Given the description of an element on the screen output the (x, y) to click on. 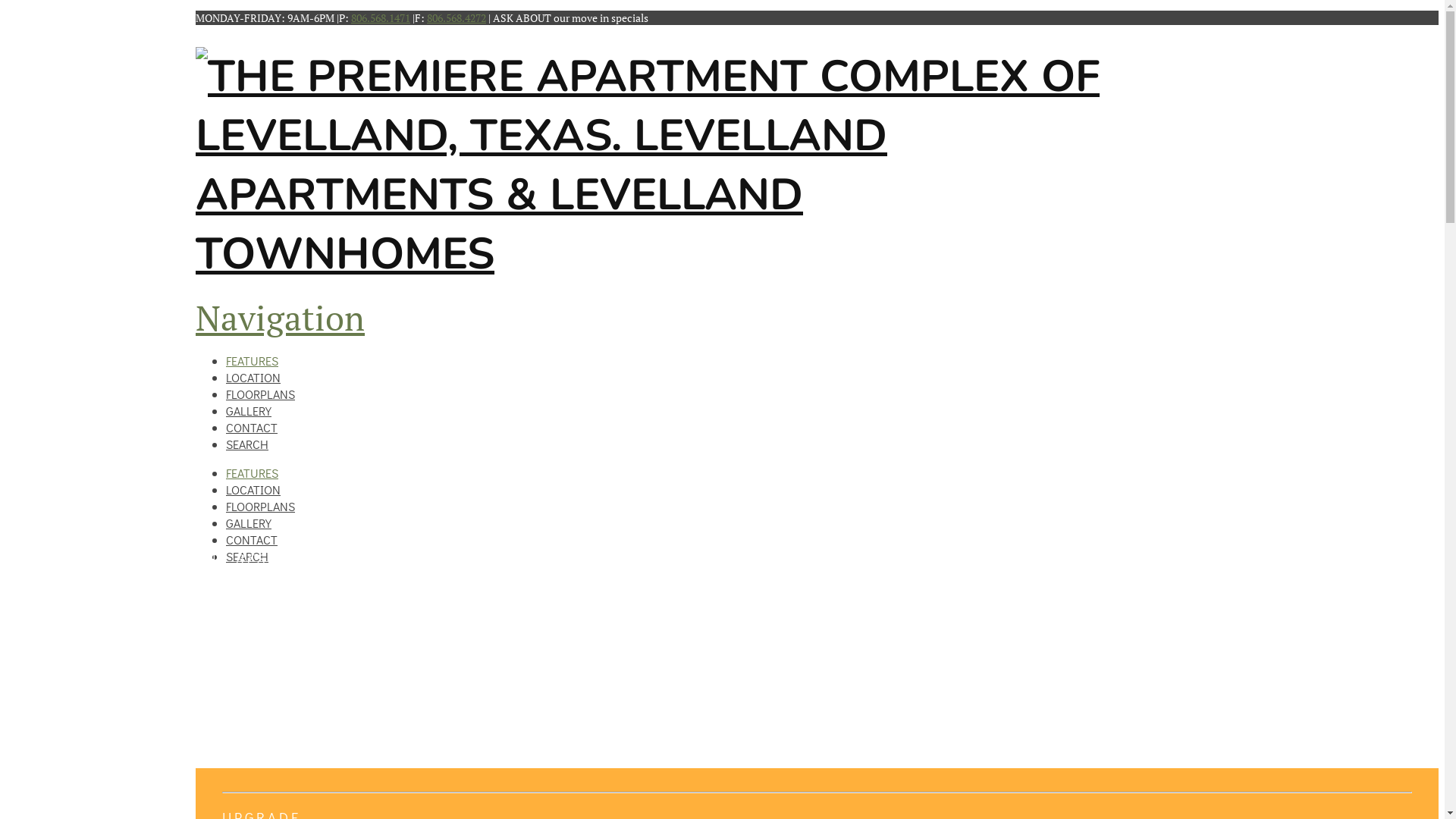
FLOORPLANS Element type: text (259, 506)
CONTACT Element type: text (251, 539)
GALLERY Element type: text (248, 405)
GALLERY Element type: text (248, 522)
FLOORPLANS Element type: text (259, 388)
FEATURES Element type: text (251, 355)
LOCATION Element type: text (252, 372)
SEARCH Element type: text (246, 438)
FEATURES Element type: text (251, 472)
806.568.4272 Element type: text (456, 17)
LOCATION Element type: text (252, 489)
806.568.1471 Element type: text (380, 17)
Navigation Element type: text (279, 317)
SEARCH Element type: text (246, 556)
CONTACT Element type: text (251, 422)
